Given the description of an element on the screen output the (x, y) to click on. 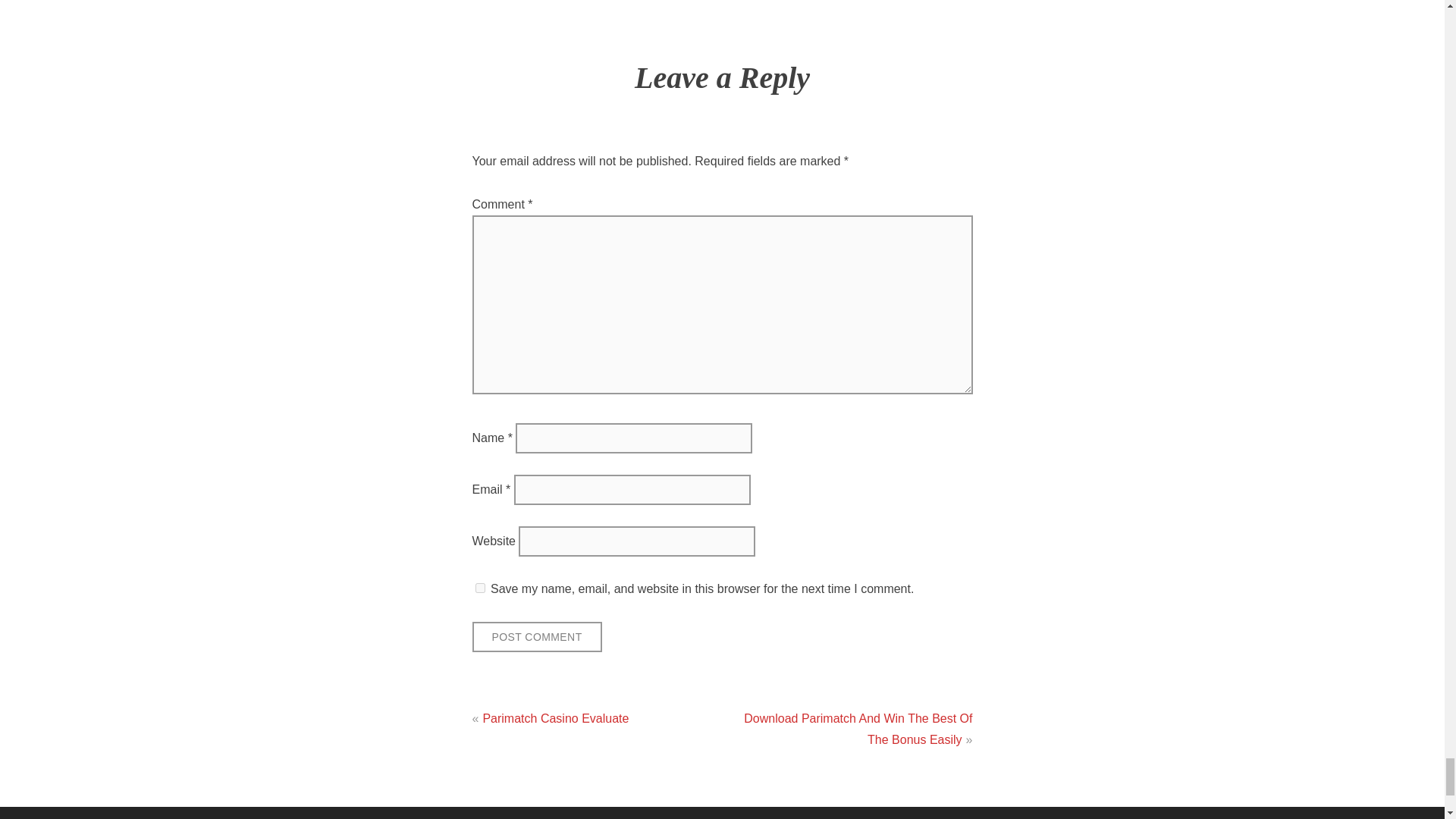
Download Parimatch And Win The Best Of The Bonus Easily (858, 728)
yes (479, 587)
Parimatch Casino Evaluate (554, 717)
Post Comment (536, 636)
Post Comment (536, 636)
